Given the description of an element on the screen output the (x, y) to click on. 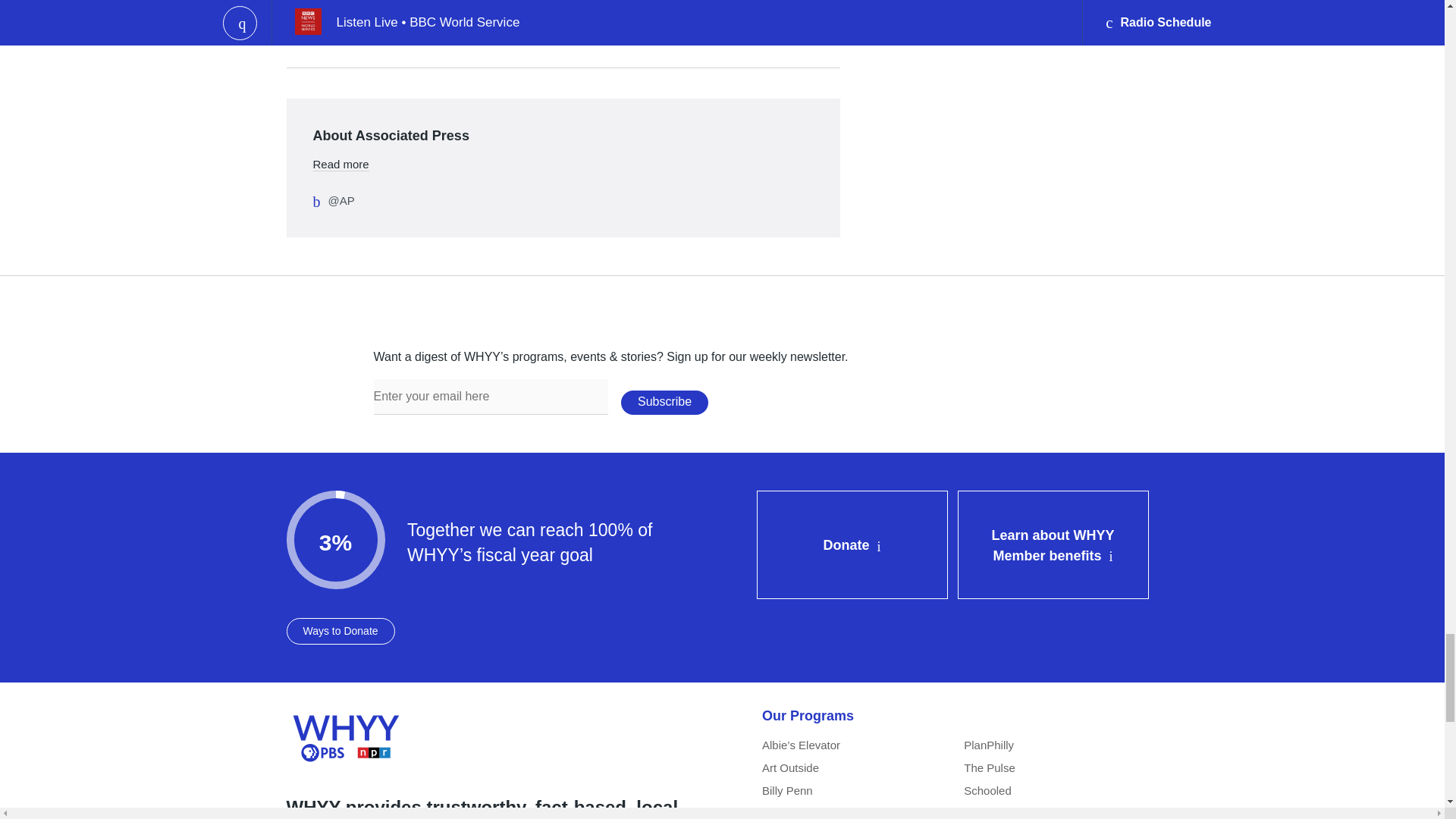
Subscribe (664, 402)
